Given the description of an element on the screen output the (x, y) to click on. 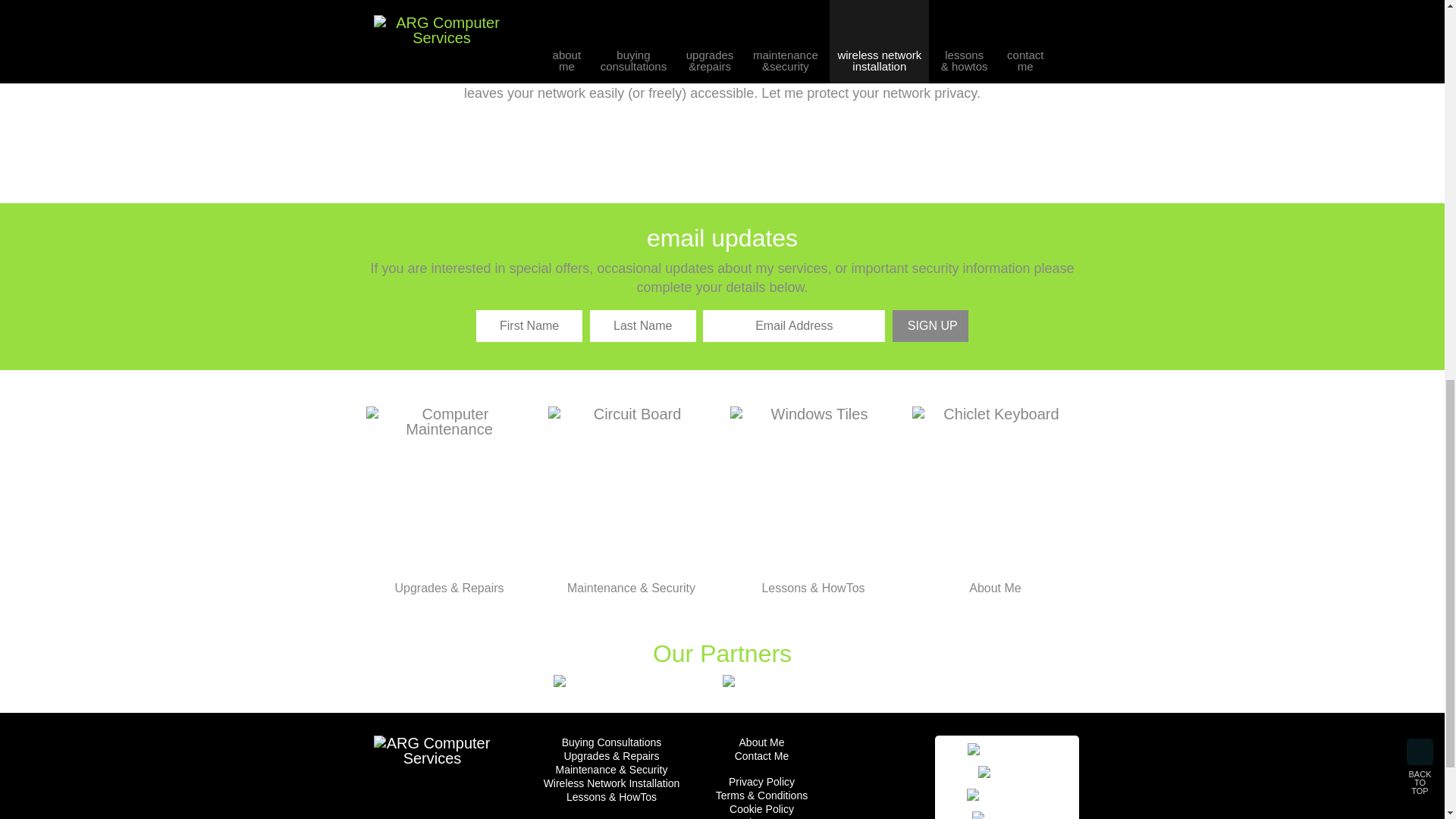
Wireless Network Installation (611, 783)
Cookie Policy (761, 808)
Privacy Policy (761, 781)
About Me (994, 501)
Sign Up (930, 326)
Buying Consultations (611, 742)
BACK TO TOP (1419, 7)
About Me (761, 742)
Contact Me (761, 755)
Sign Up (930, 326)
